Given the description of an element on the screen output the (x, y) to click on. 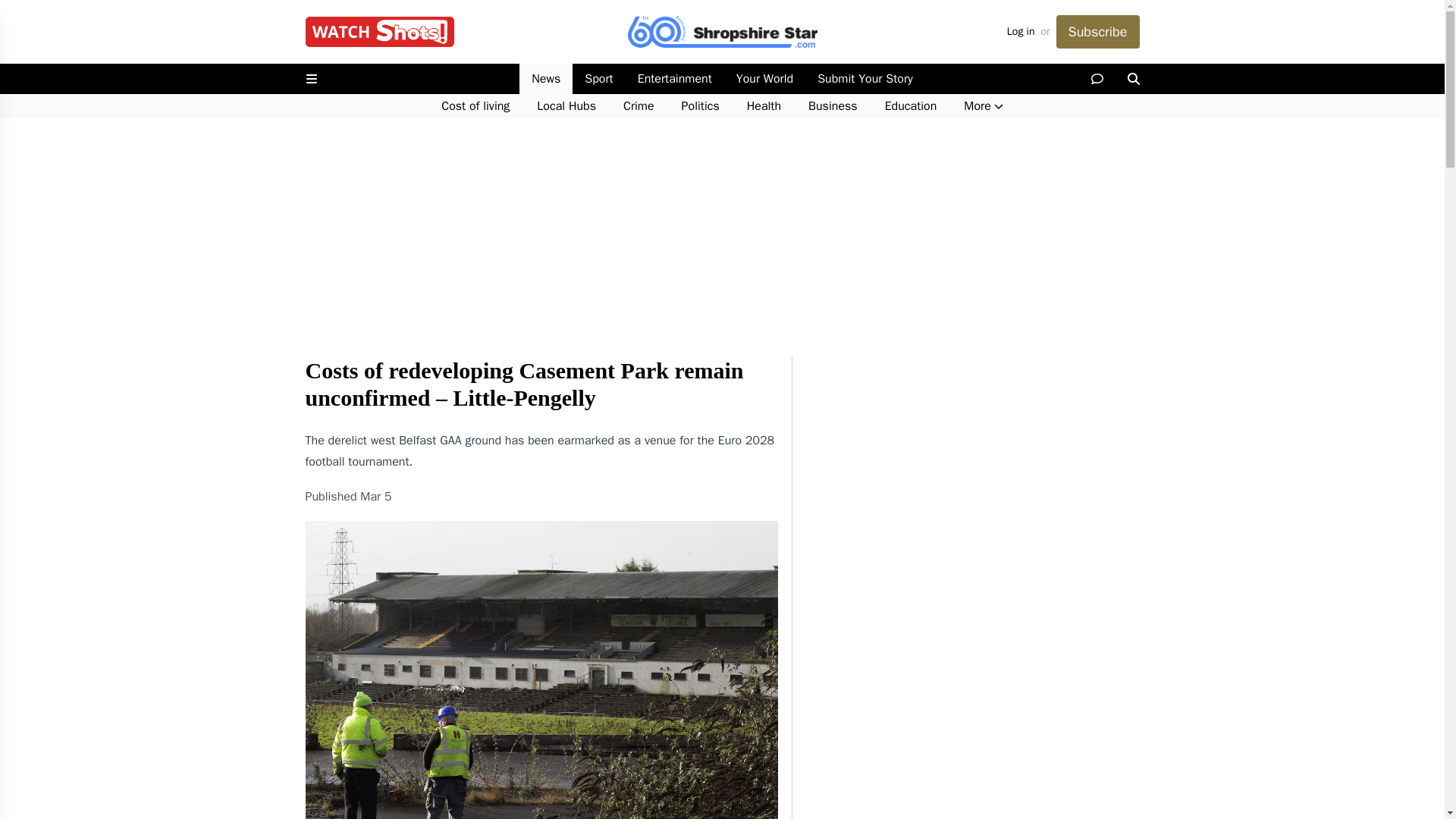
Log in (1021, 31)
Sport (598, 78)
Education (910, 105)
Entertainment (674, 78)
Business (832, 105)
Submit Your Story (864, 78)
3rd party ad content (972, 452)
Subscribe (1096, 31)
News (545, 78)
Politics (700, 105)
